Given the description of an element on the screen output the (x, y) to click on. 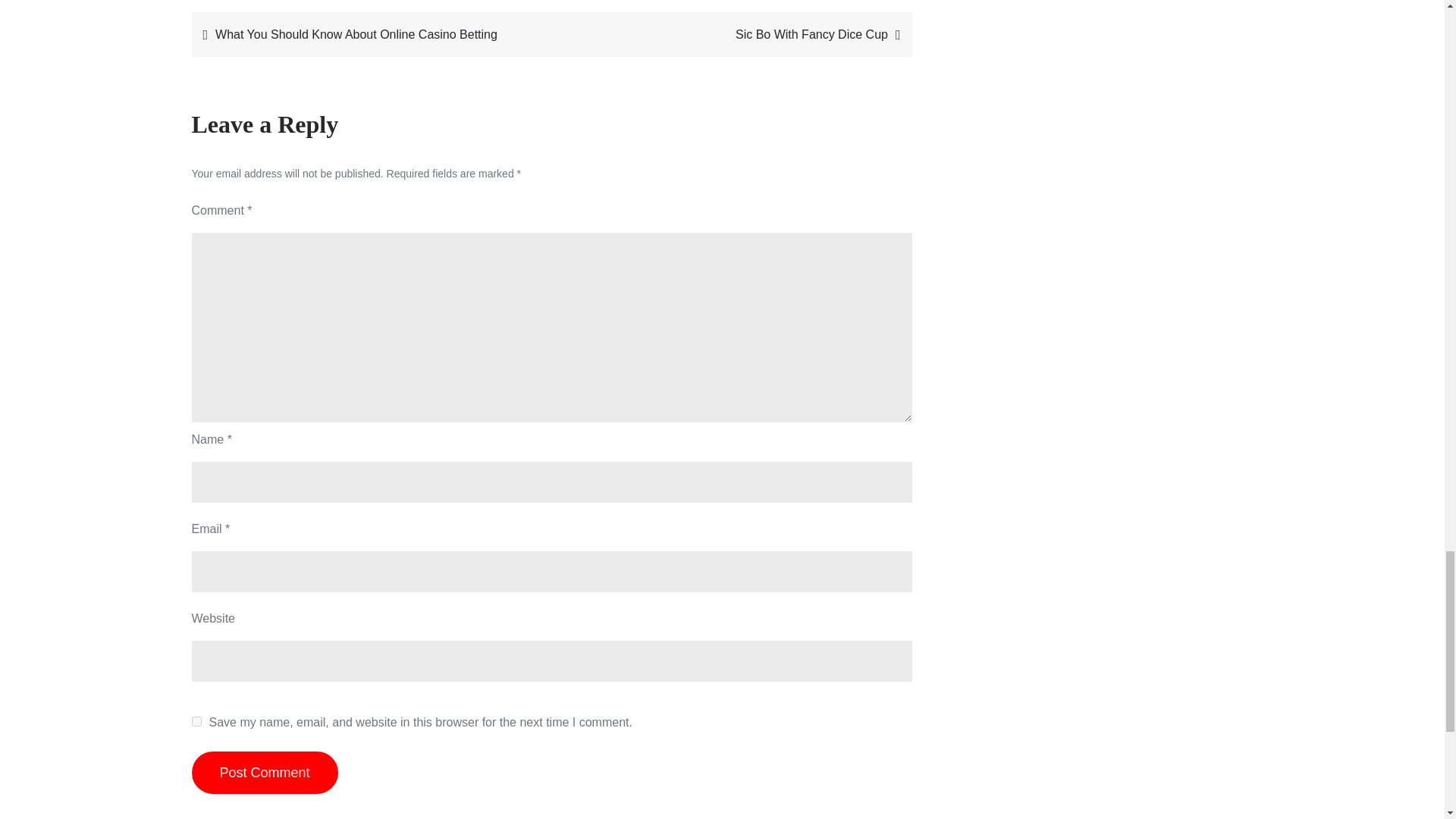
What You Should Know About Online Casino Betting (367, 34)
Post Comment (263, 772)
Post Comment (263, 772)
yes (195, 721)
Sic Bo With Fancy Dice Cup (734, 34)
